Given the description of an element on the screen output the (x, y) to click on. 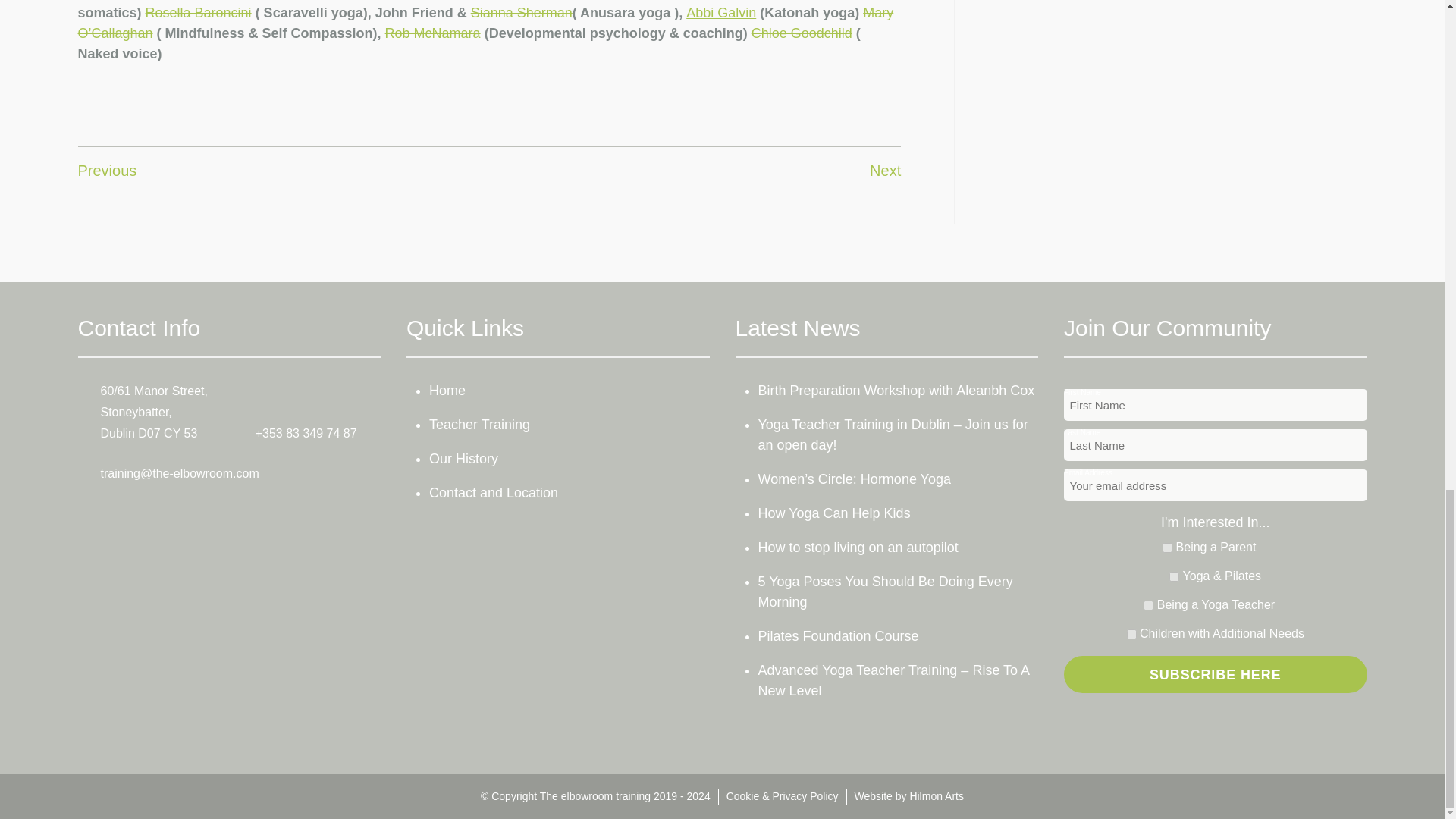
Yoga (1174, 576)
Parent (1166, 547)
Previous (106, 170)
Rob McNamara (432, 32)
Abbi Galvin (720, 12)
Chloe Goodchild (801, 32)
Teacher (1147, 605)
Children (1131, 634)
Rosella Baroncini (198, 12)
Sianna Sherman (521, 12)
